Given the description of an element on the screen output the (x, y) to click on. 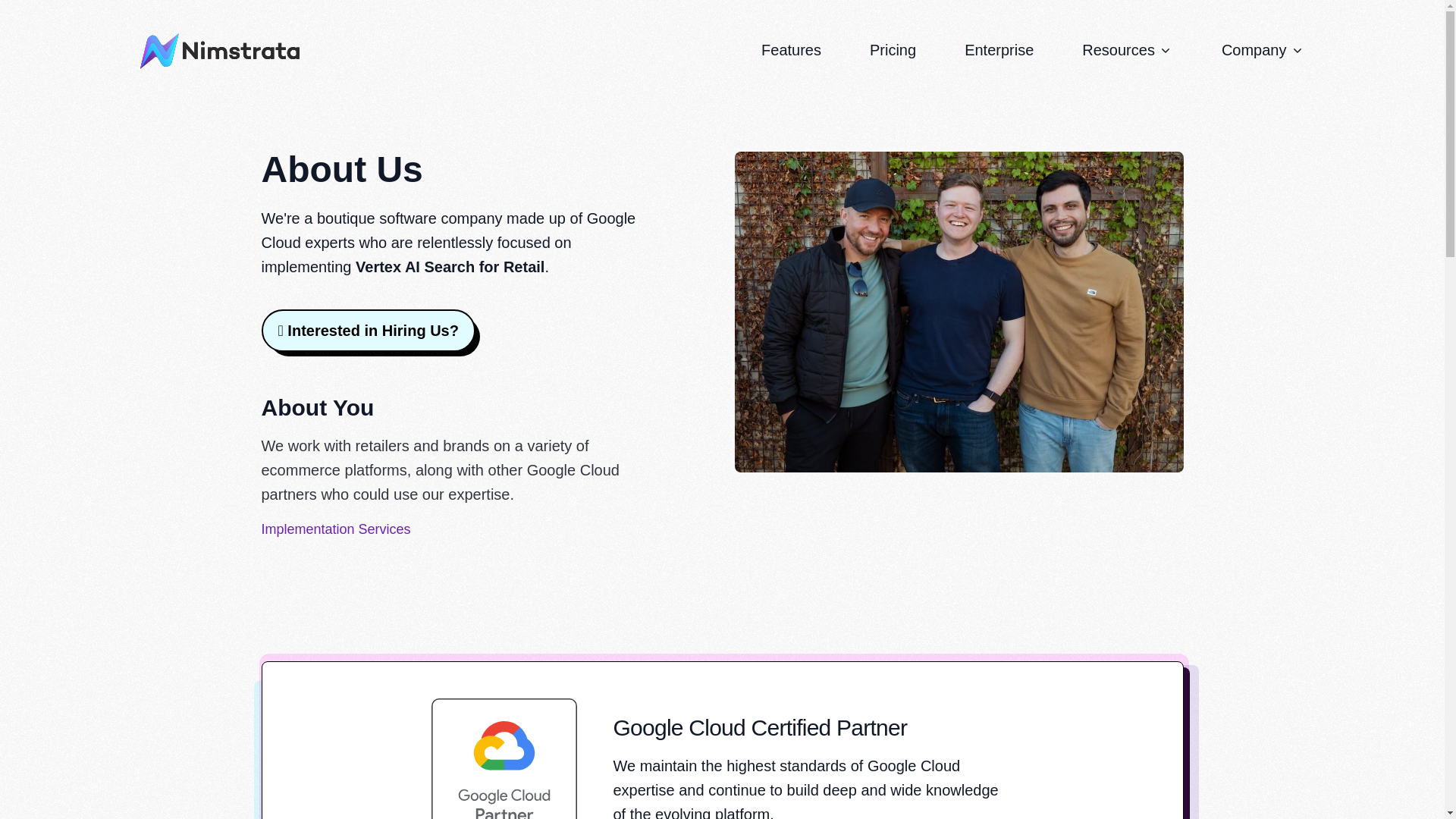
Resources (1127, 49)
Implementation Services (335, 529)
Pricing (892, 50)
Features (791, 50)
Enterprise (998, 50)
Company (1262, 49)
